Given the description of an element on the screen output the (x, y) to click on. 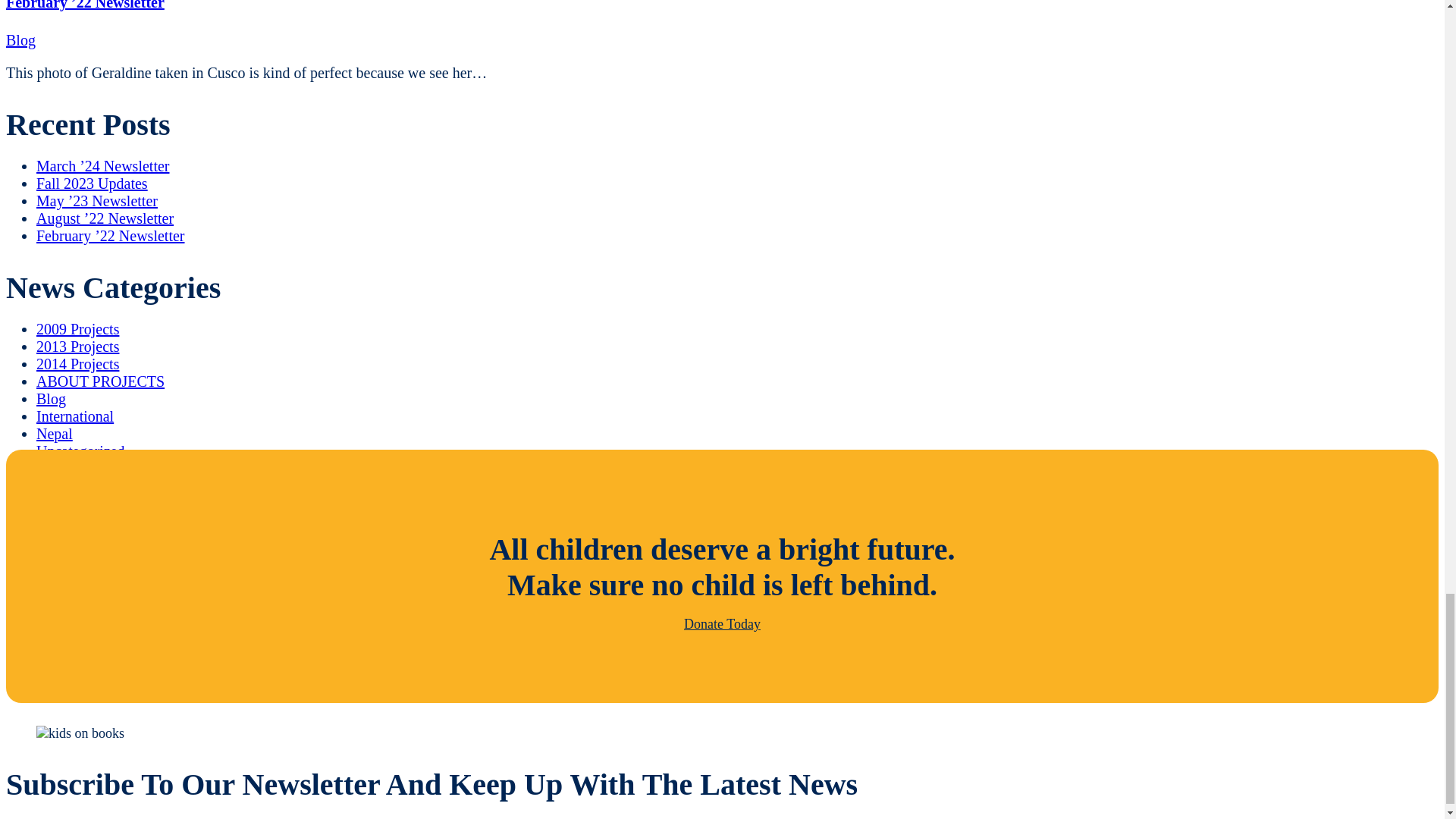
Blog (50, 398)
International (74, 416)
Blog (19, 39)
Fall 2023 Updates (92, 183)
2009 Projects (77, 329)
ABOUT PROJECTS (100, 381)
2013 Projects (77, 346)
2014 Projects (77, 363)
